Given the description of an element on the screen output the (x, y) to click on. 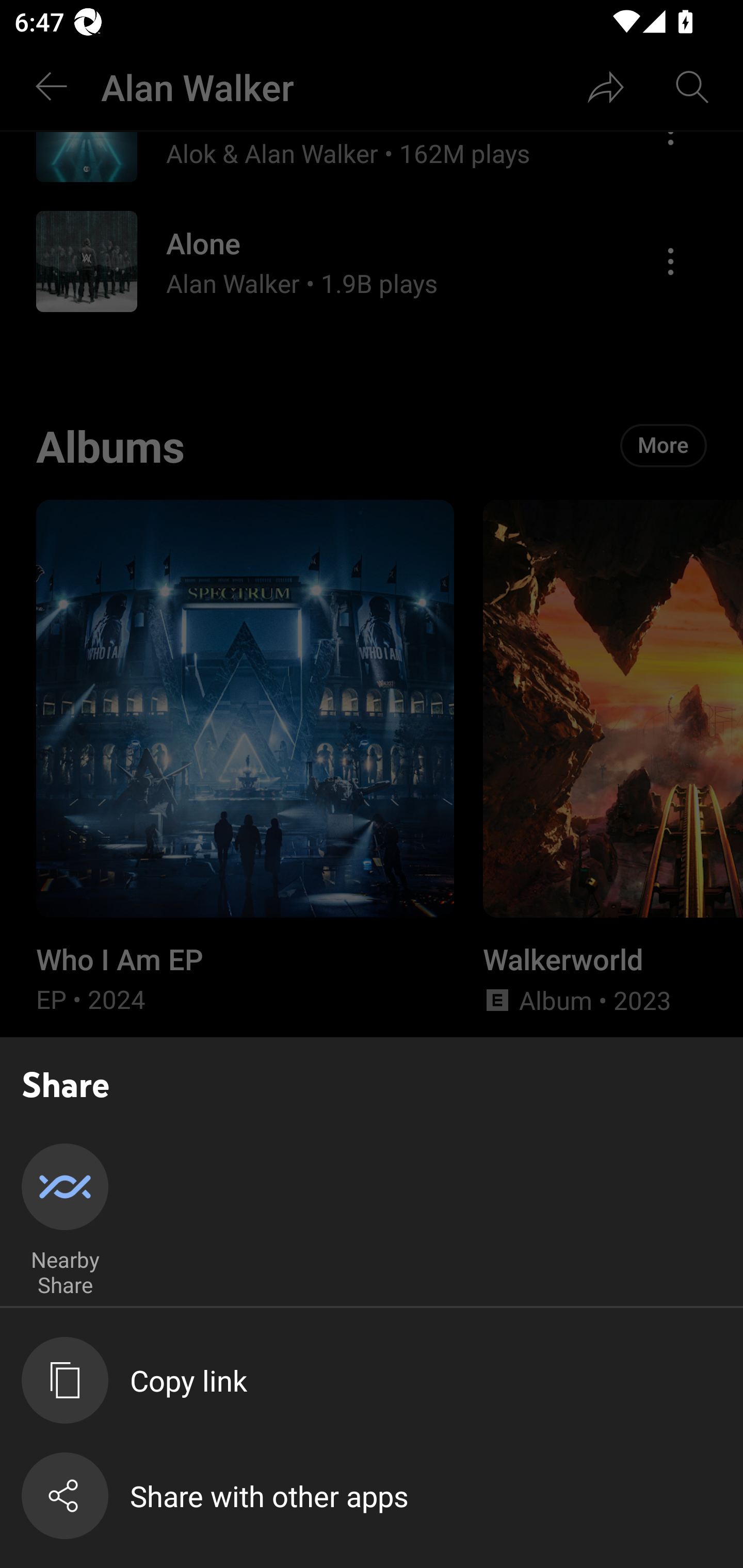
Nearby Share (64, 1221)
Copy link (382, 1380)
Share with other apps (382, 1495)
